Given the description of an element on the screen output the (x, y) to click on. 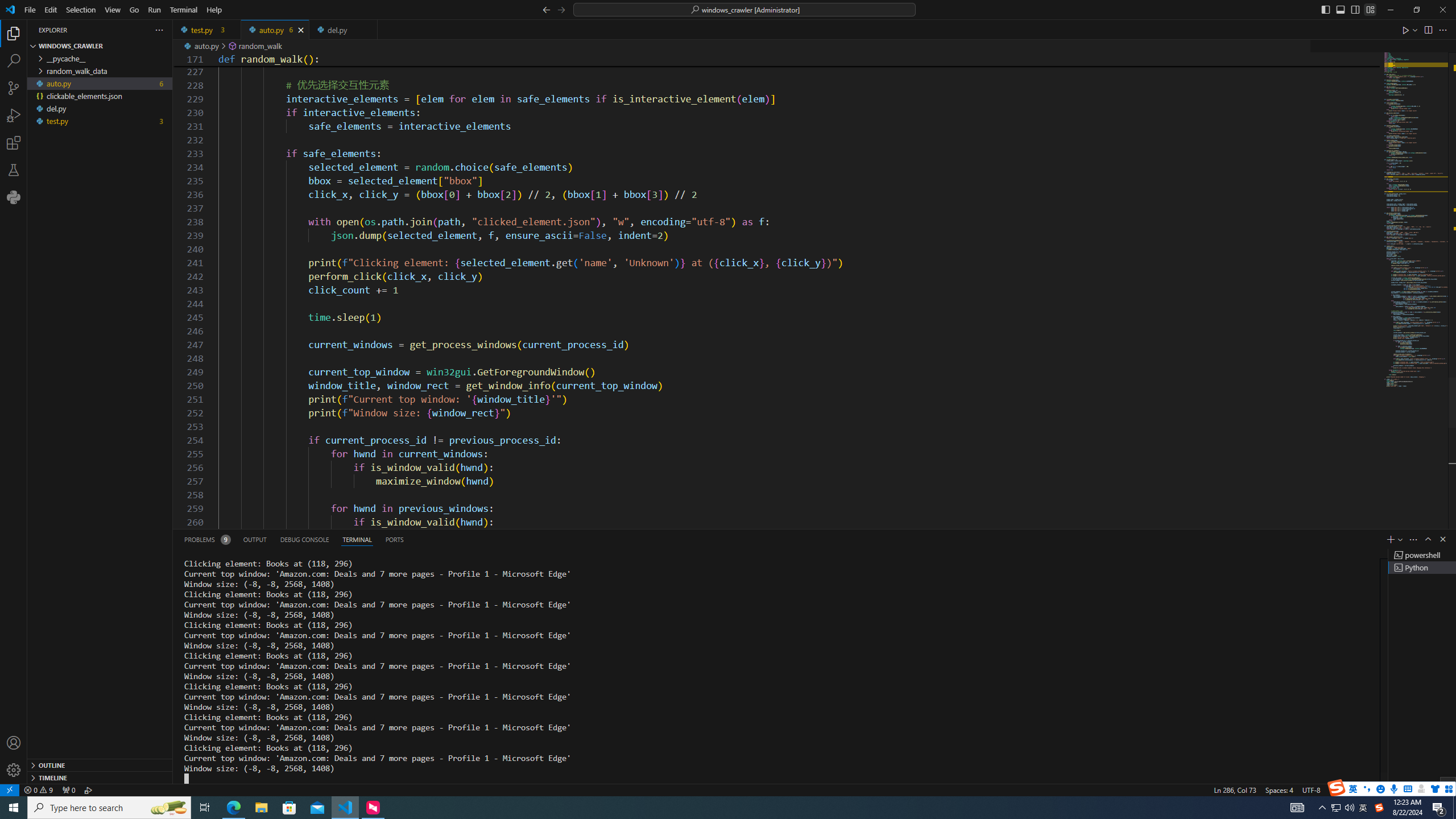
auto.py (274, 29)
Testing (13, 169)
Go (134, 9)
Help (214, 9)
Maximize Panel Size (1428, 539)
Title actions (1347, 9)
Extensions (Ctrl+Shift+X) (13, 142)
Ports (394, 539)
Run or Debug... (1414, 29)
Views and More Actions... (1412, 539)
test.py (207, 29)
Terminal (Ctrl+`) (356, 539)
Search (Ctrl+Shift+F) (13, 60)
